Given the description of an element on the screen output the (x, y) to click on. 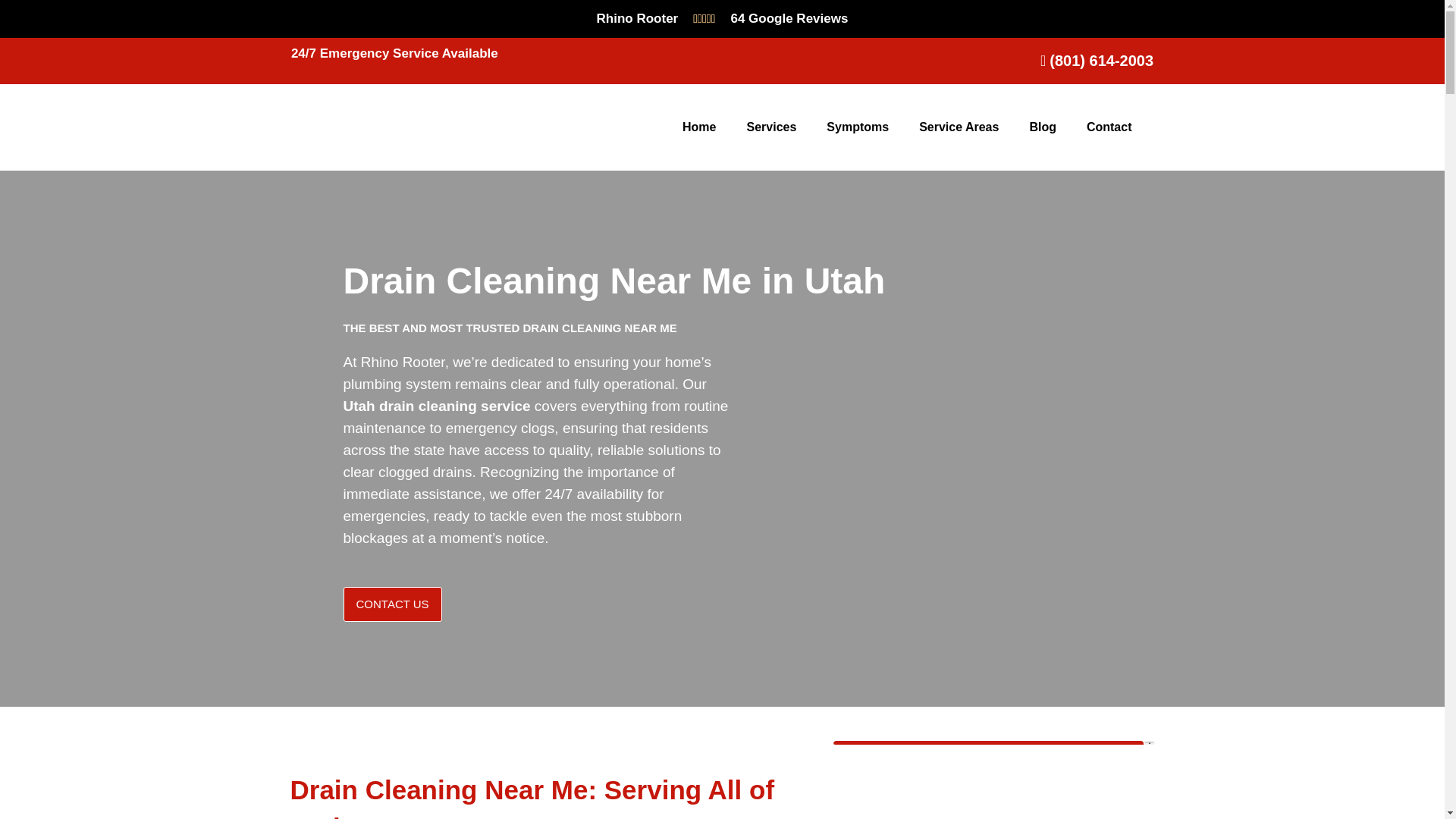
Services (770, 126)
Service Areas (958, 126)
Home (698, 126)
Rhino Rooter (637, 18)
64 Google Reviews (788, 18)
Symptoms (857, 126)
Contact (1109, 126)
Blog (1042, 126)
